Given the description of an element on the screen output the (x, y) to click on. 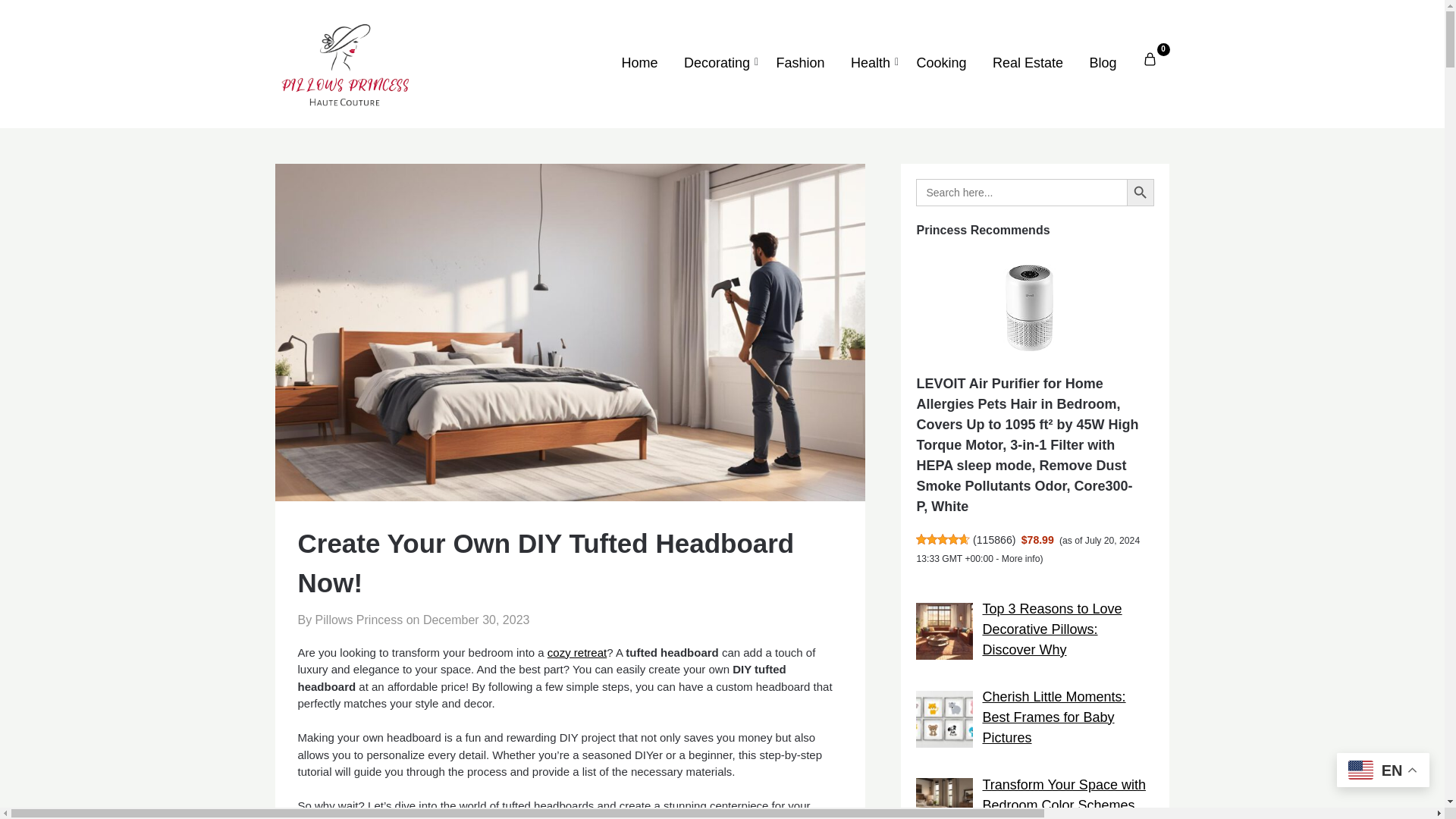
Pillows Princess (999, 25)
Health (870, 63)
cozy retreat (577, 652)
Decorating (716, 63)
Blog (1101, 63)
Home (639, 63)
Cooking (940, 63)
Real Estate (1027, 63)
0 (1149, 58)
Fashion (799, 63)
December 30, 2023 (476, 619)
